Given the description of an element on the screen output the (x, y) to click on. 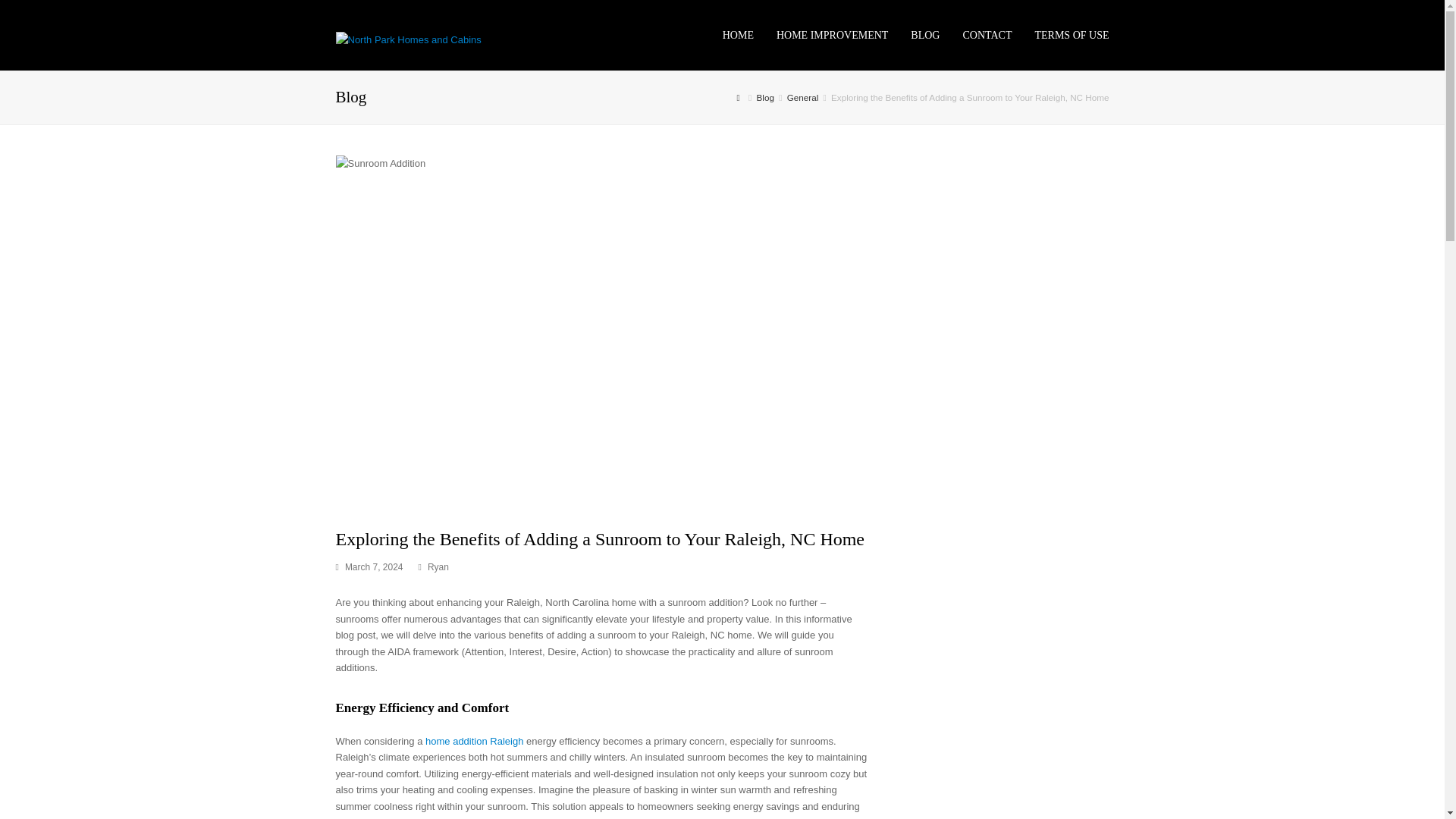
HOME (738, 35)
BLOG (924, 35)
HOME IMPROVEMENT (832, 35)
CONTACT (986, 35)
Posts by Ryan (438, 566)
Blog (765, 97)
General (802, 97)
Blog (765, 97)
North Park Homes and Cabins (407, 39)
home addition Raleigh (473, 740)
